Given the description of an element on the screen output the (x, y) to click on. 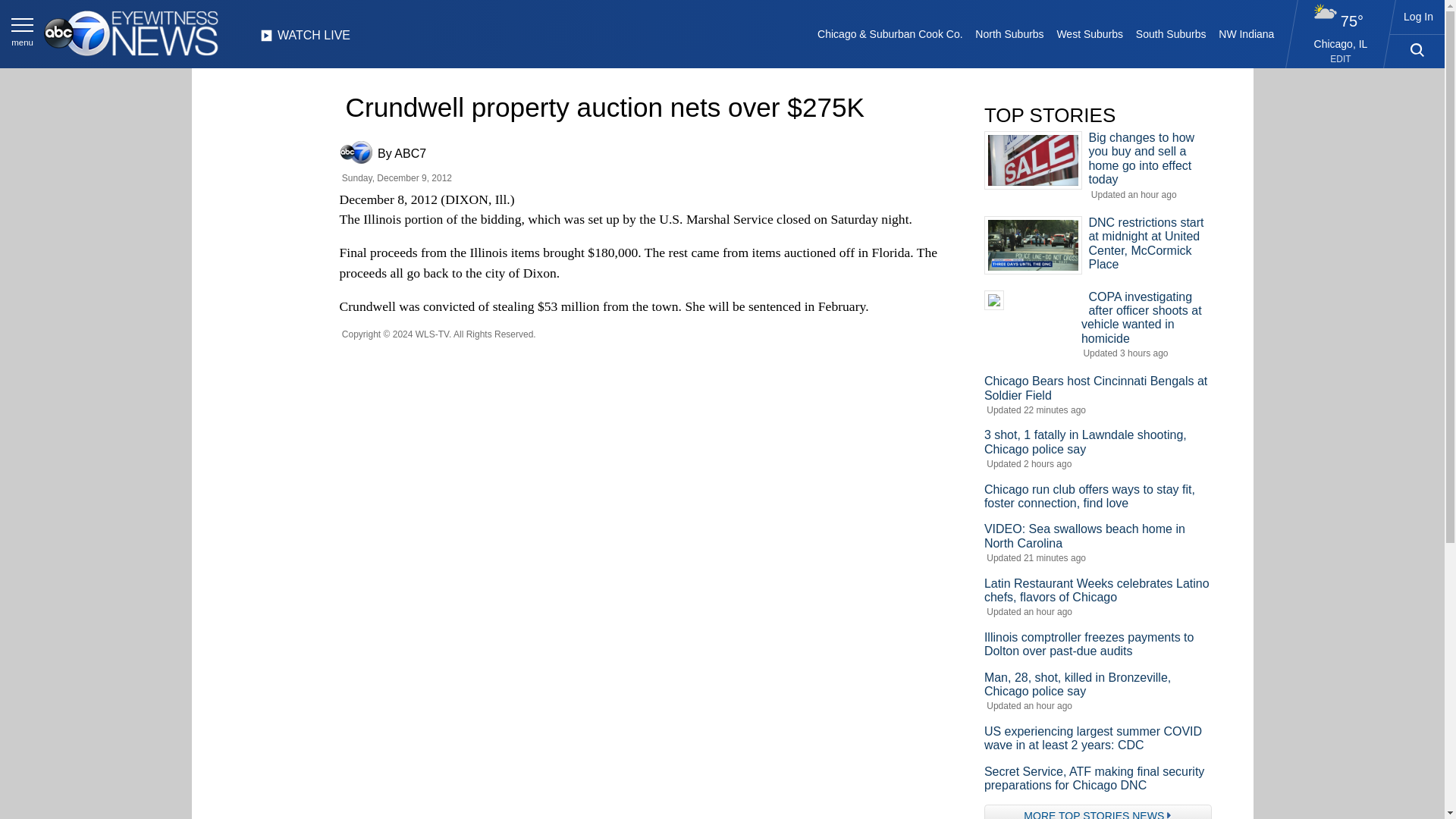
EDIT (1340, 59)
South Suburbs (1170, 33)
North Suburbs (1009, 33)
WATCH LIVE (305, 39)
NW Indiana (1246, 33)
West Suburbs (1089, 33)
Chicago, IL (1340, 43)
